Given the description of an element on the screen output the (x, y) to click on. 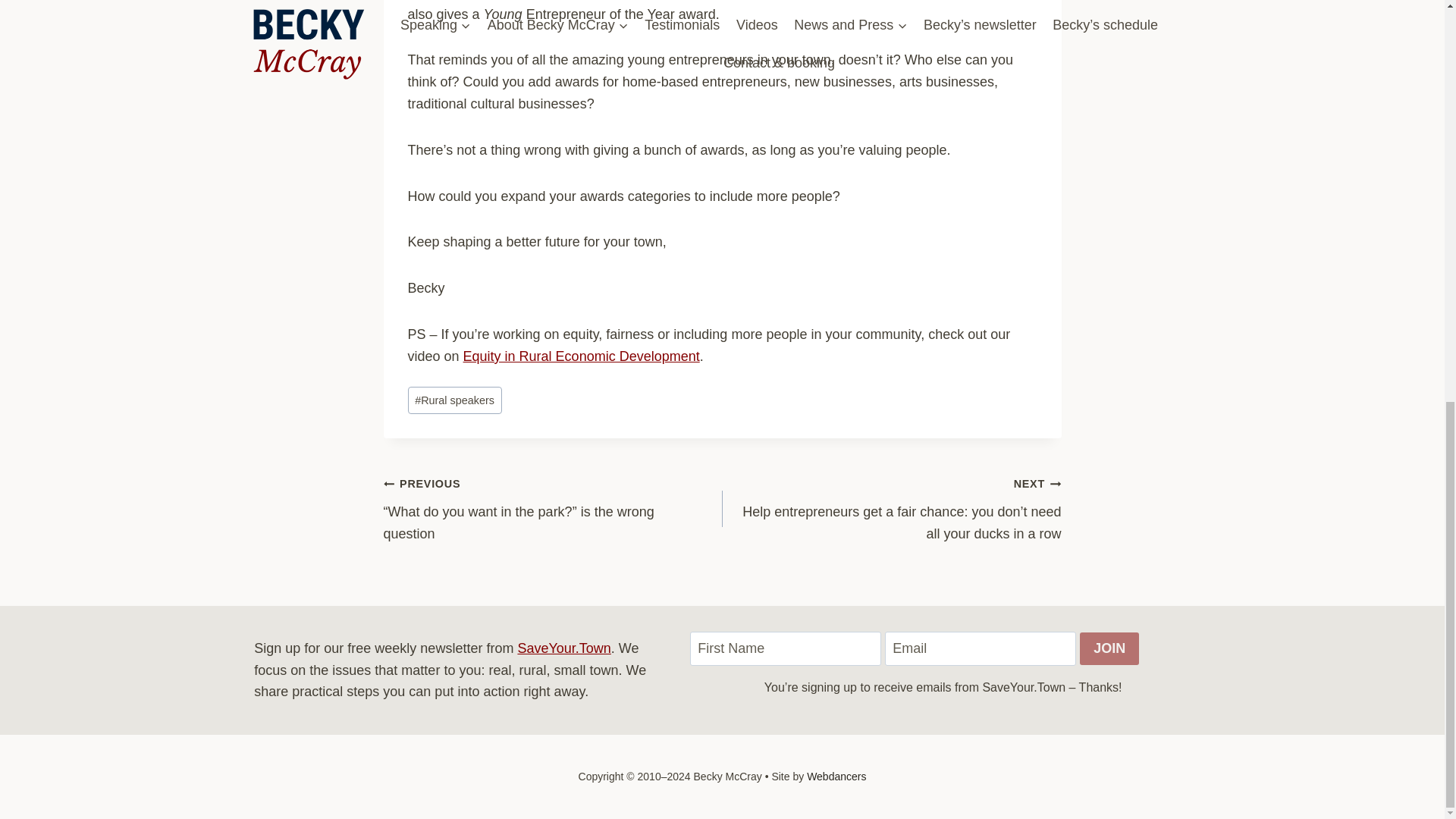
Join (1109, 648)
Webdancers (836, 776)
SaveYour.Town (563, 648)
Equity in Rural Economic Development (581, 355)
Rural speakers (454, 400)
Join (1109, 648)
